Given the description of an element on the screen output the (x, y) to click on. 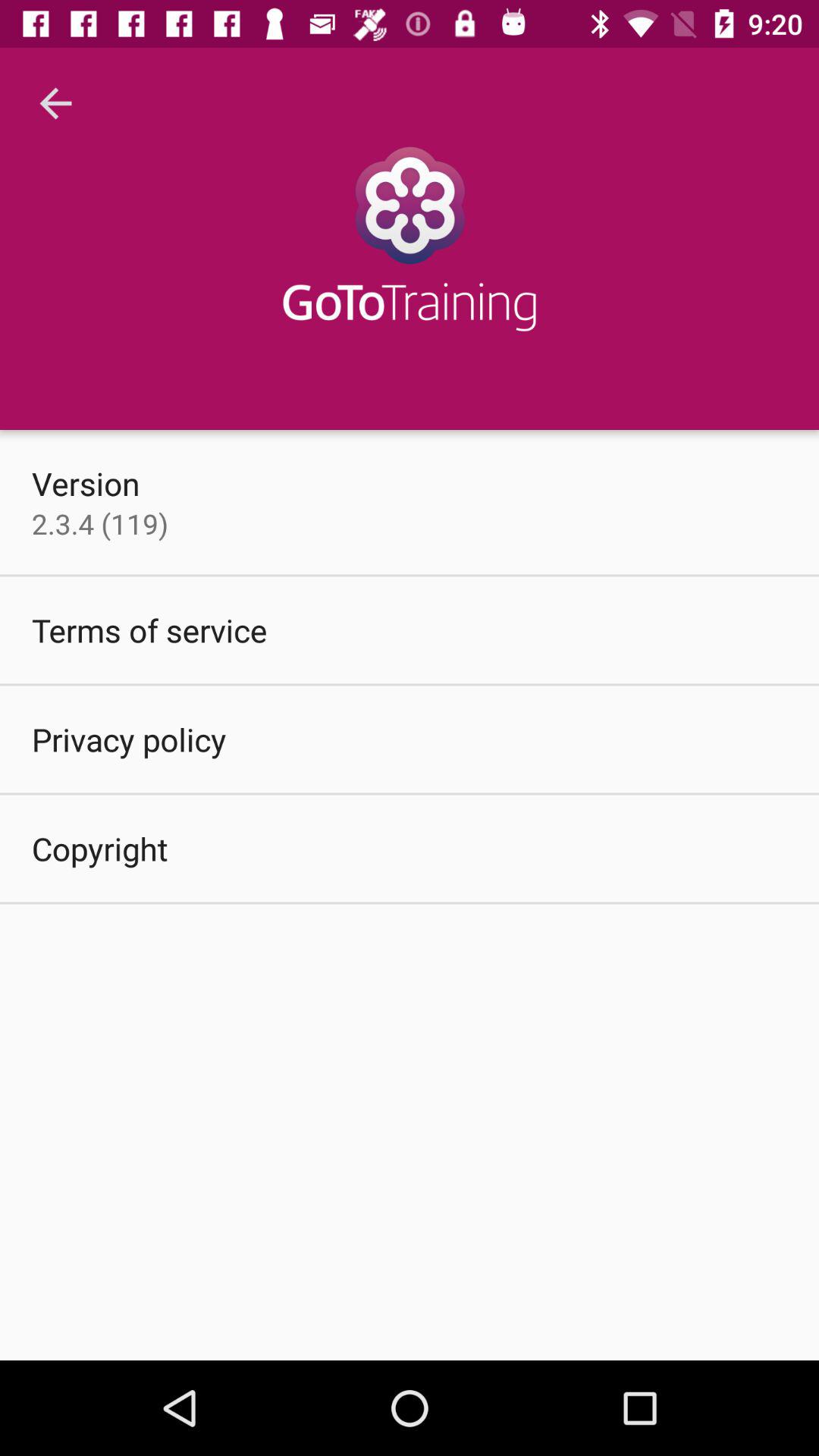
click version (85, 483)
